Given the description of an element on the screen output the (x, y) to click on. 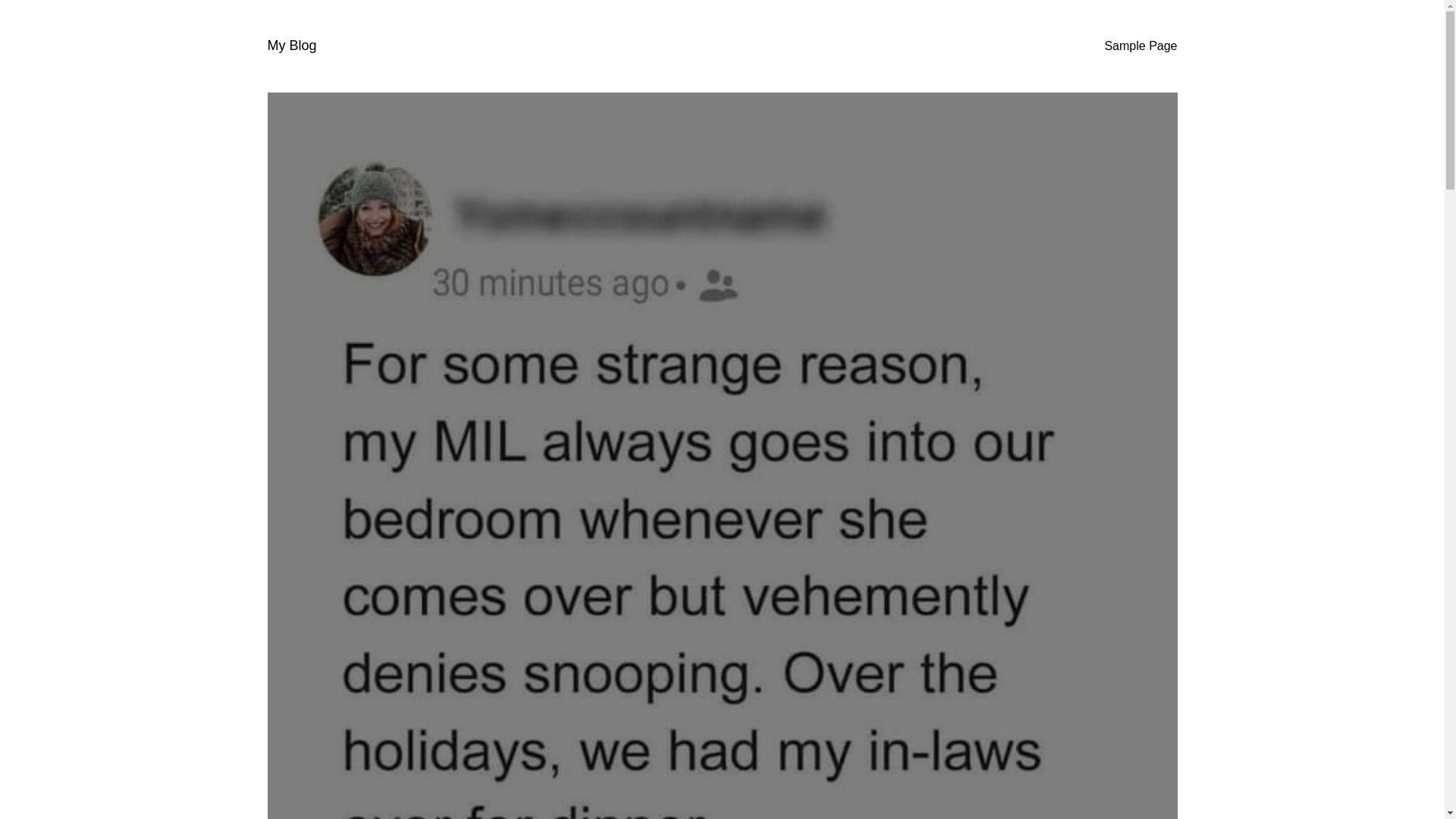
My Blog (290, 45)
Sample Page (1139, 46)
